Given the description of an element on the screen output the (x, y) to click on. 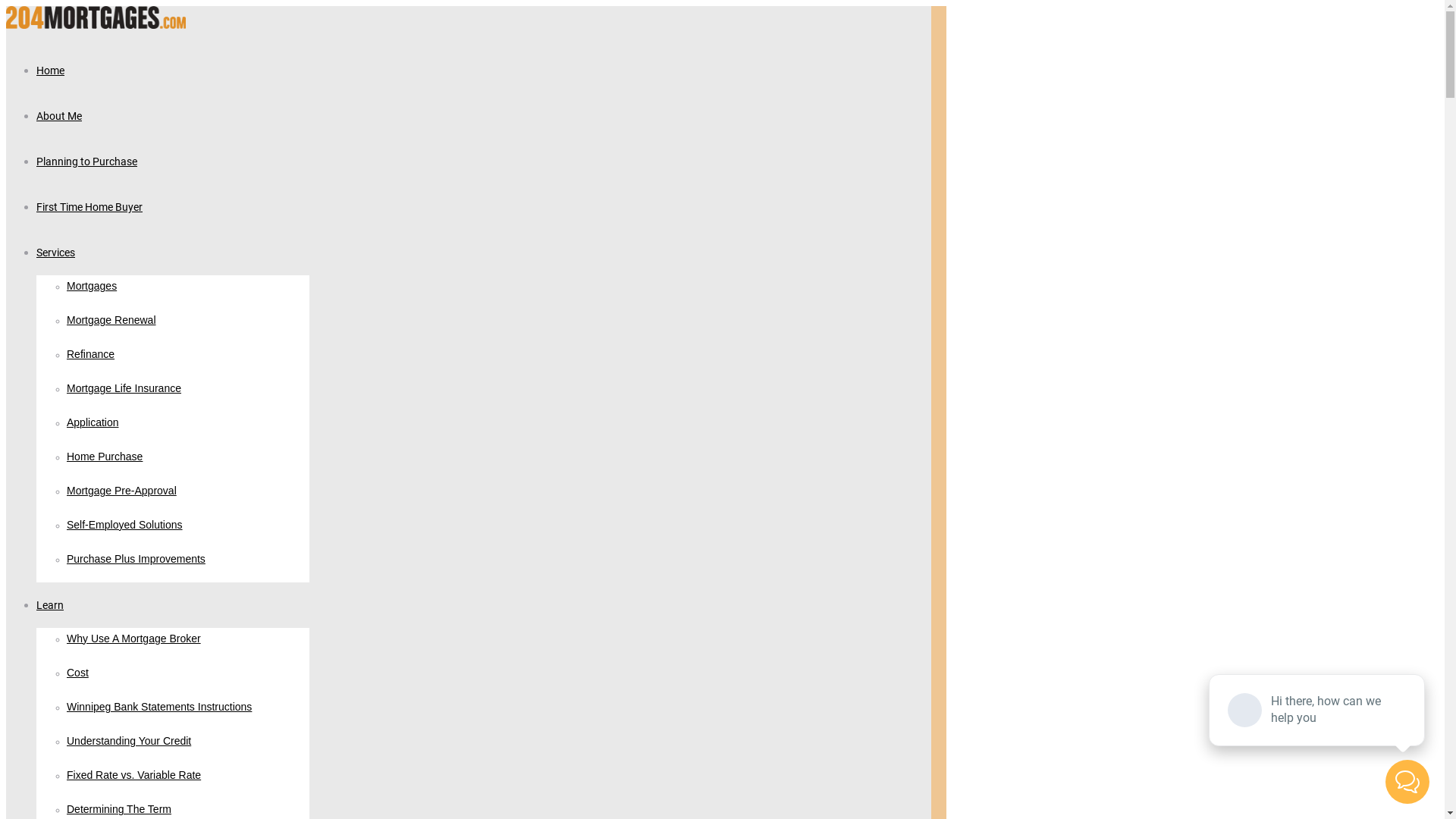
Mortgage Renewal Element type: text (111, 320)
Purchase Plus Improvements Element type: text (135, 559)
204 Mortgages Element type: hover (95, 24)
Fixed Rate vs. Variable Rate Element type: text (133, 775)
Refinance Element type: text (90, 354)
Home Element type: text (50, 69)
Self-Employed Solutions Element type: text (124, 525)
Mortgage Pre-Approval Element type: text (121, 491)
Mortgage Life Insurance Element type: text (123, 388)
Learn Element type: text (49, 604)
Winnipeg Bank Statements Instructions Element type: text (158, 707)
Understanding Your Credit Element type: text (128, 741)
About Me Element type: text (58, 115)
Determining The Term Element type: text (118, 809)
Planning to Purchase Element type: text (86, 160)
Cost Element type: text (77, 673)
Why Use A Mortgage Broker Element type: text (133, 638)
First Time Home Buyer Element type: text (89, 206)
Application Element type: text (92, 422)
Home Purchase Element type: text (104, 456)
Services Element type: text (55, 251)
Mortgages Element type: text (91, 286)
